Given the description of an element on the screen output the (x, y) to click on. 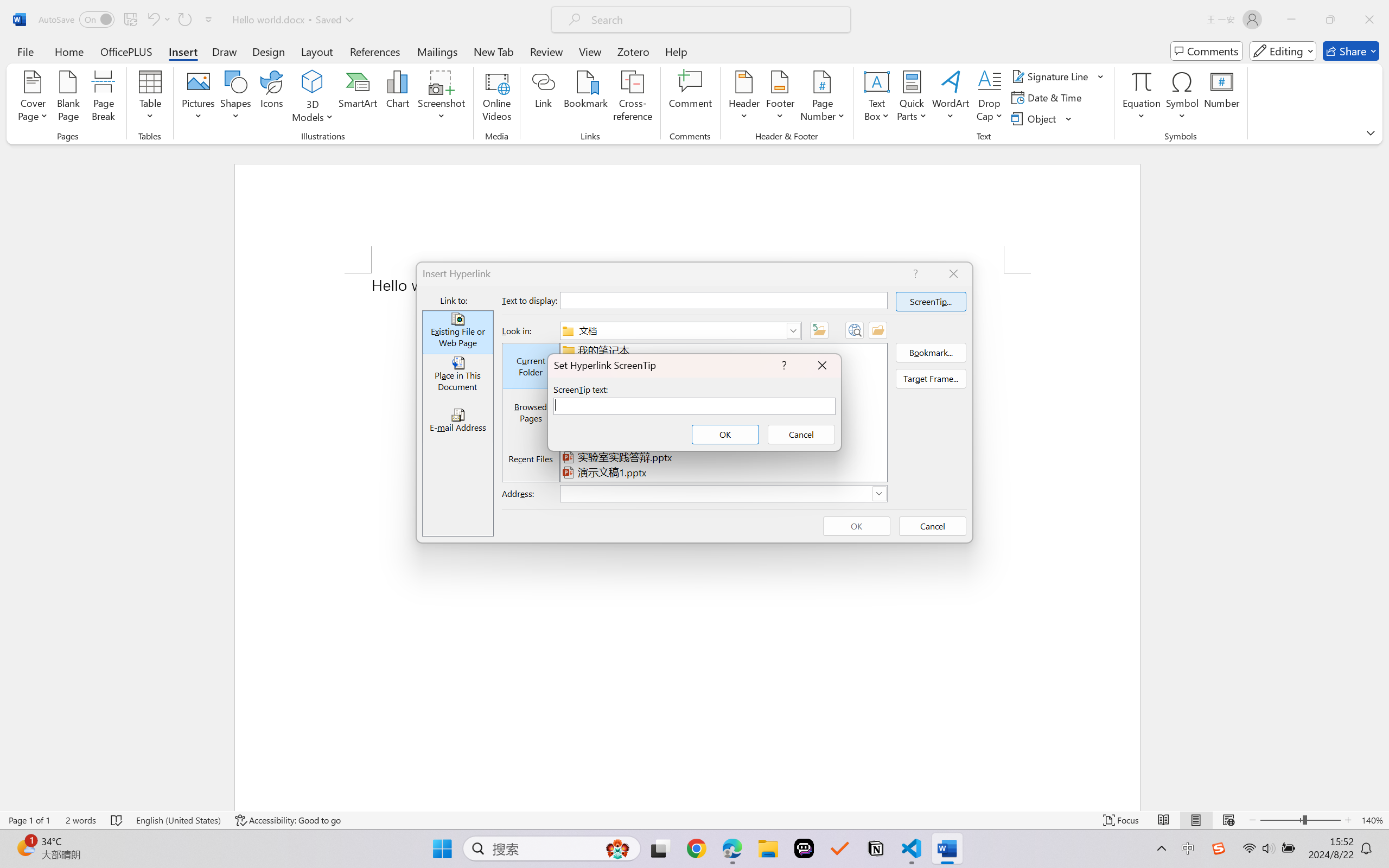
AutomationID: DynamicSearchBoxGleamImage (617, 848)
ScreenTip... (930, 301)
Class: NetUIScrollBar (1382, 477)
Language English (United States) (178, 819)
More Options (1141, 112)
Can't Undo (152, 19)
Read Mode (1163, 819)
Equation (1141, 97)
References (375, 51)
E-mail Address (457, 420)
Page Number (822, 97)
Share (1350, 51)
